Given the description of an element on the screen output the (x, y) to click on. 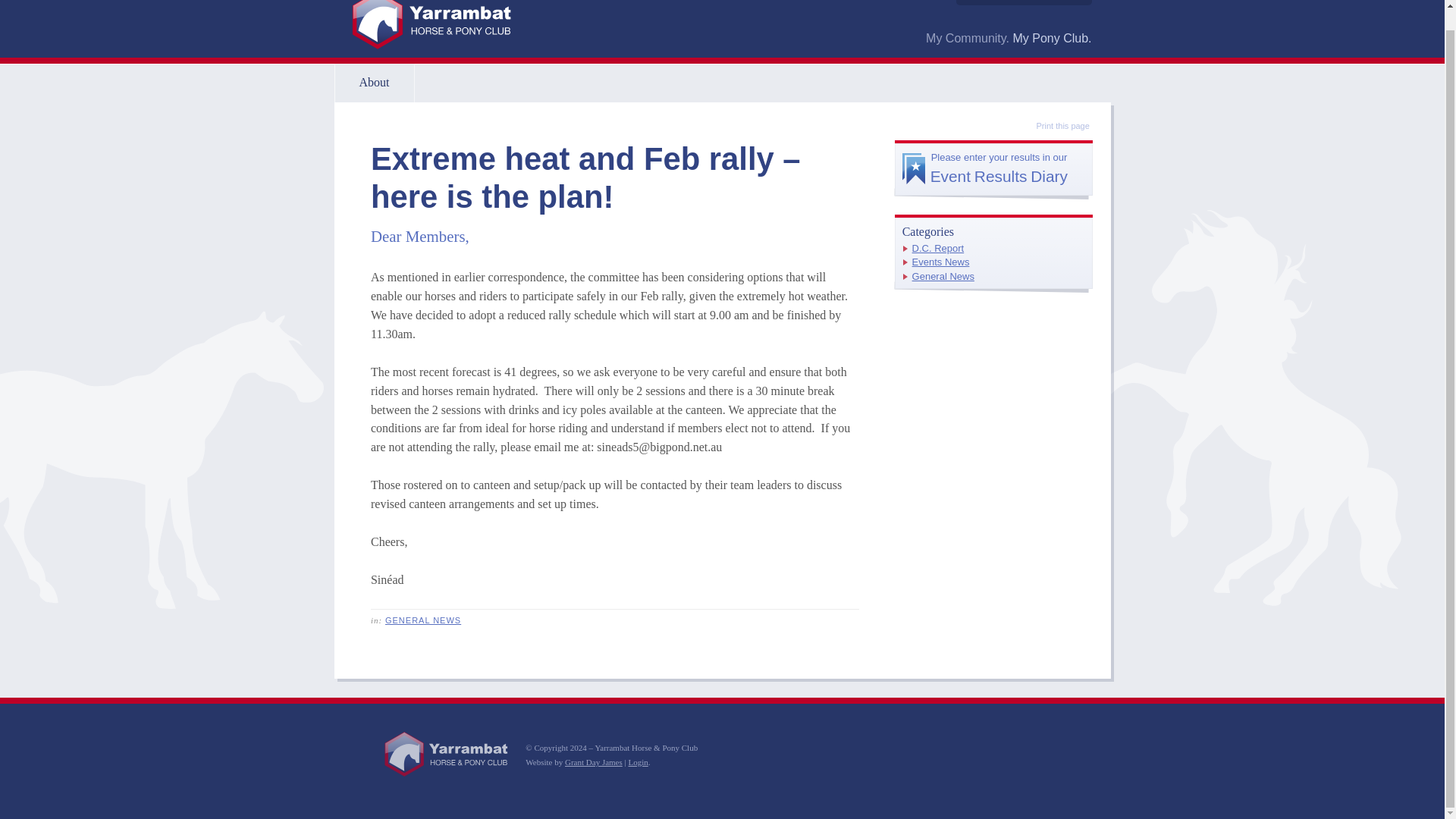
Back to home (431, 28)
Print this page (1054, 126)
D.C. Report (937, 247)
About (373, 82)
General News (943, 276)
Visit this external site (593, 761)
Back to home (446, 754)
Grant Day James (593, 761)
Administer this website (637, 761)
Login (637, 761)
Events News (940, 261)
GENERAL NEWS (994, 167)
